Given the description of an element on the screen output the (x, y) to click on. 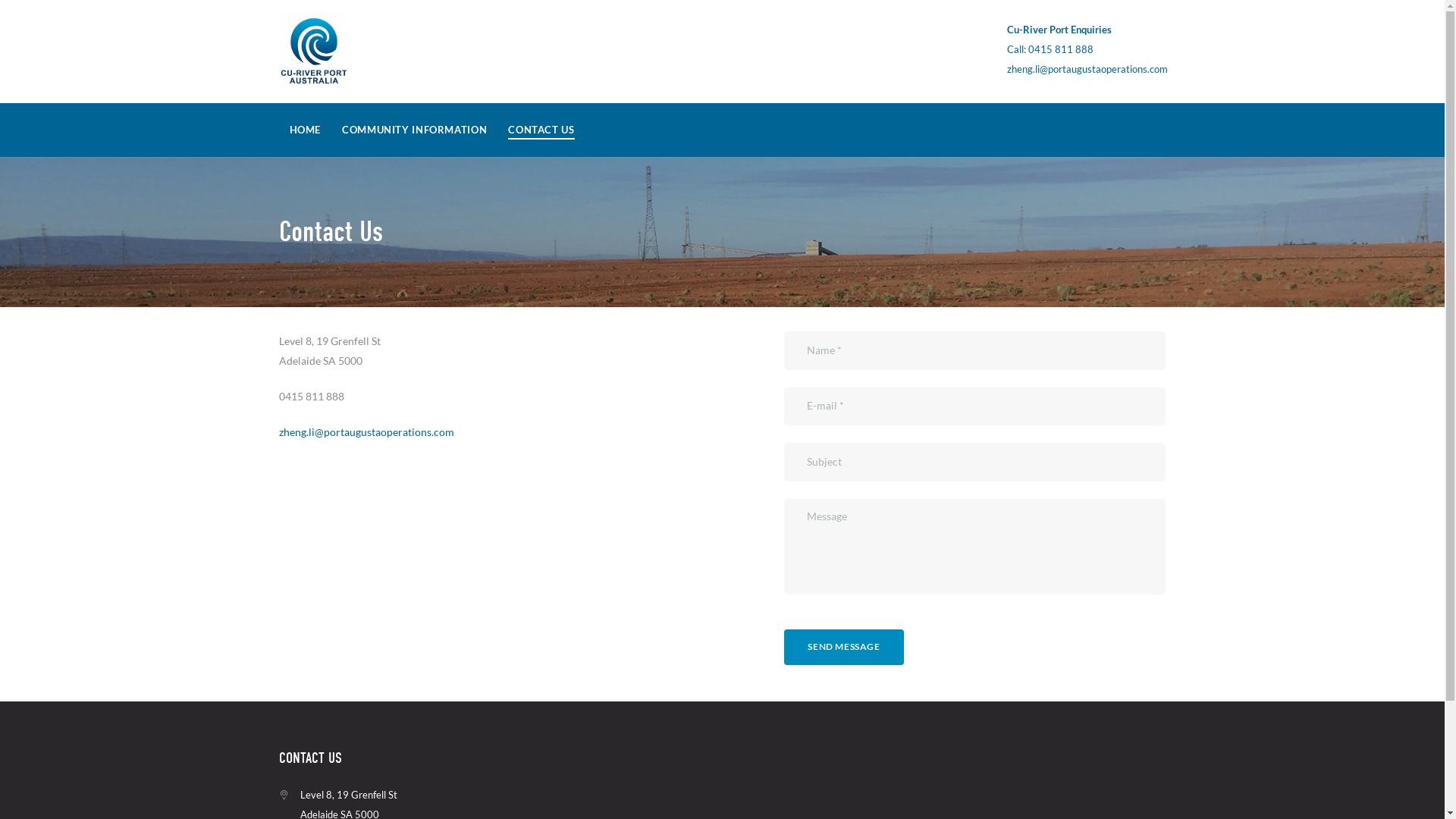
zheng.li@portaugustaoperations.com Element type: text (1087, 68)
CONTACT US Element type: text (541, 131)
zheng.li@portaugustaoperations.com Element type: text (366, 431)
SEND MESSAGE Element type: text (843, 647)
HOME Element type: text (305, 131)
COMMUNITY INFORMATION Element type: text (414, 131)
